Given the description of an element on the screen output the (x, y) to click on. 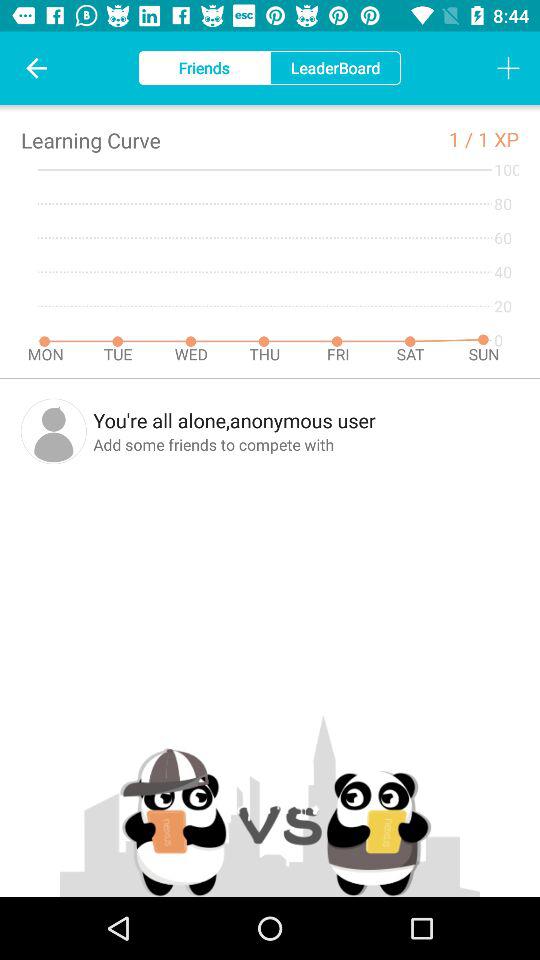
select icon to the left of friends (36, 68)
